Given the description of an element on the screen output the (x, y) to click on. 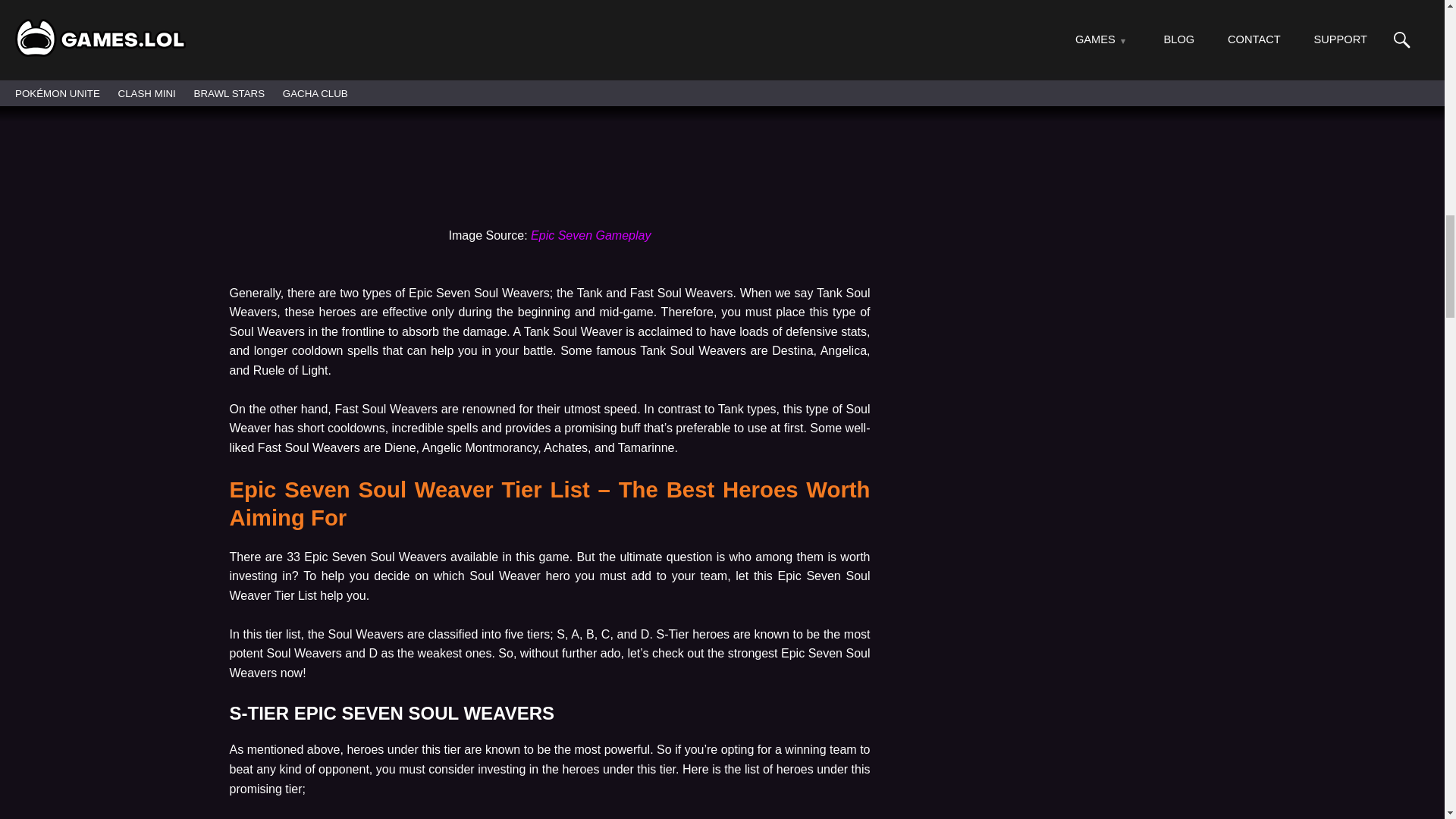
Epic Seven Gameplay (590, 235)
Epic seven dialog (549, 108)
